Given the description of an element on the screen output the (x, y) to click on. 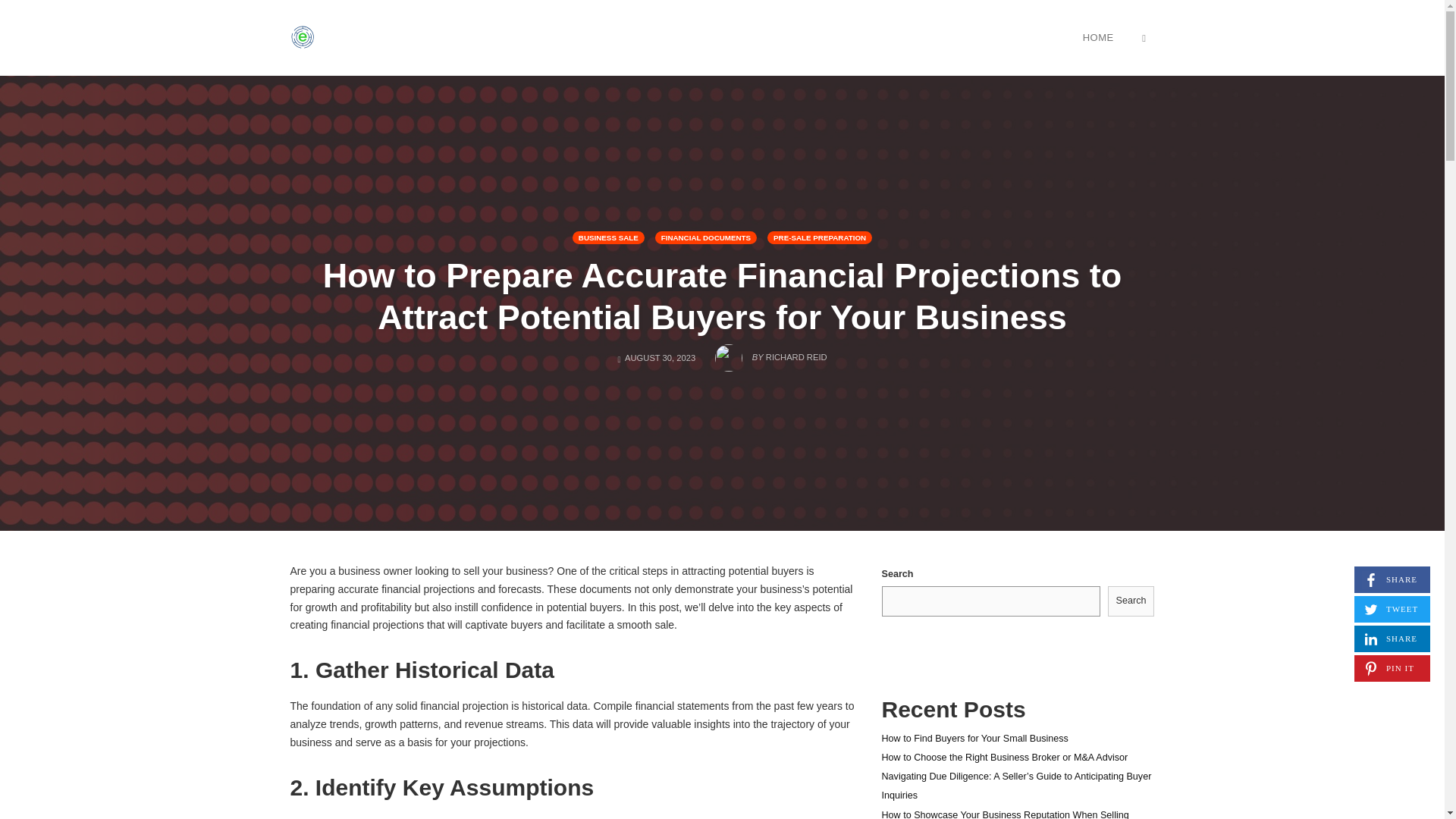
OPEN SEARCH FORM (1144, 37)
BY RICHARD REID (770, 352)
HOME (1391, 638)
BUSINESS SALE (1098, 37)
sellmybusiness-io (608, 237)
PRE-SALE PREPARATION (1391, 579)
FINANCIAL DOCUMENTS (301, 37)
